Given the description of an element on the screen output the (x, y) to click on. 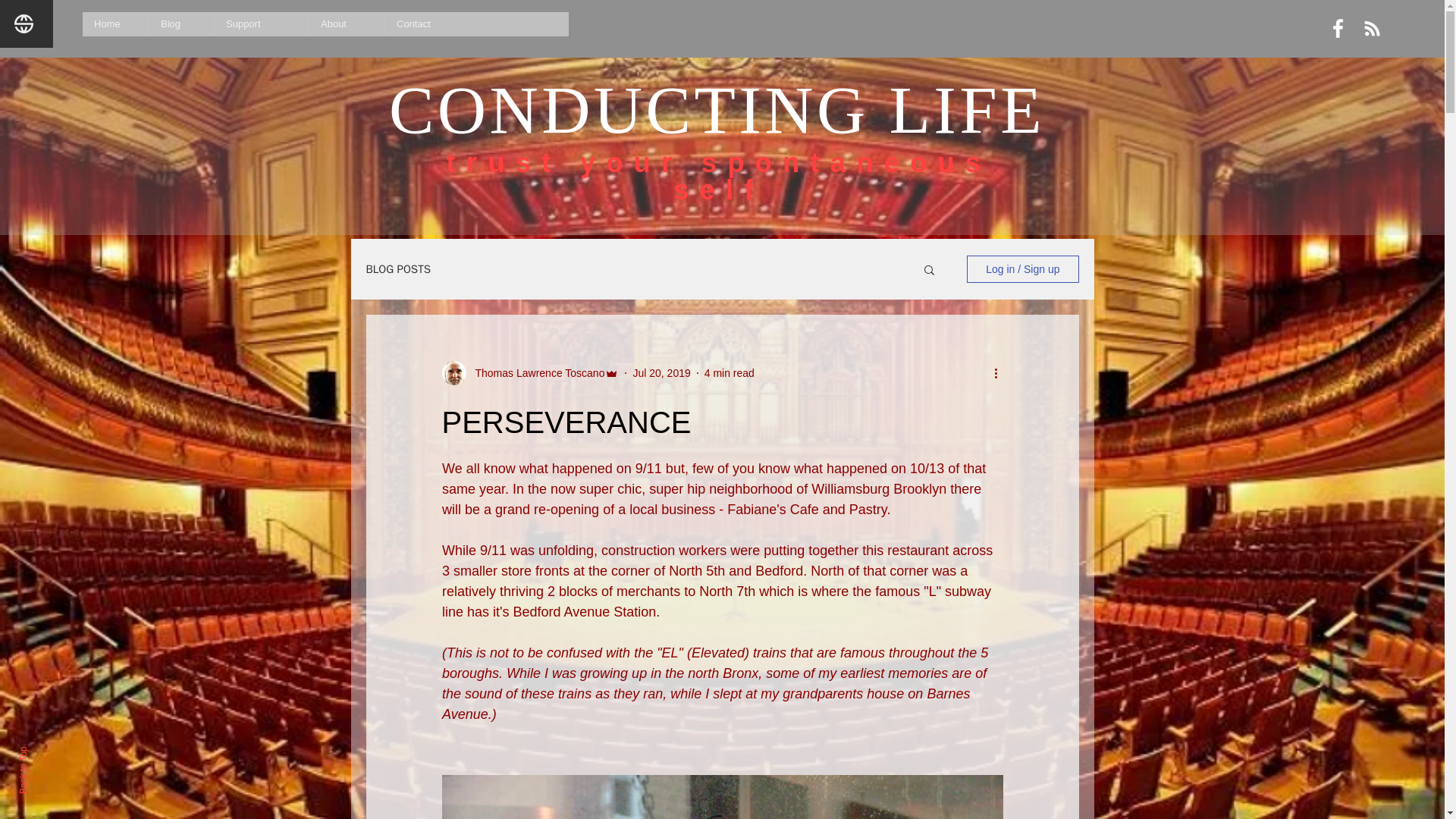
Back to Top (41, 751)
Contact (432, 24)
Blog (181, 24)
Jul 20, 2019 (660, 372)
Support (261, 24)
4 min read (729, 372)
BLOG POSTS (397, 269)
Home (115, 24)
Thomas Lawrence Toscano (534, 373)
About (346, 24)
